Given the description of an element on the screen output the (x, y) to click on. 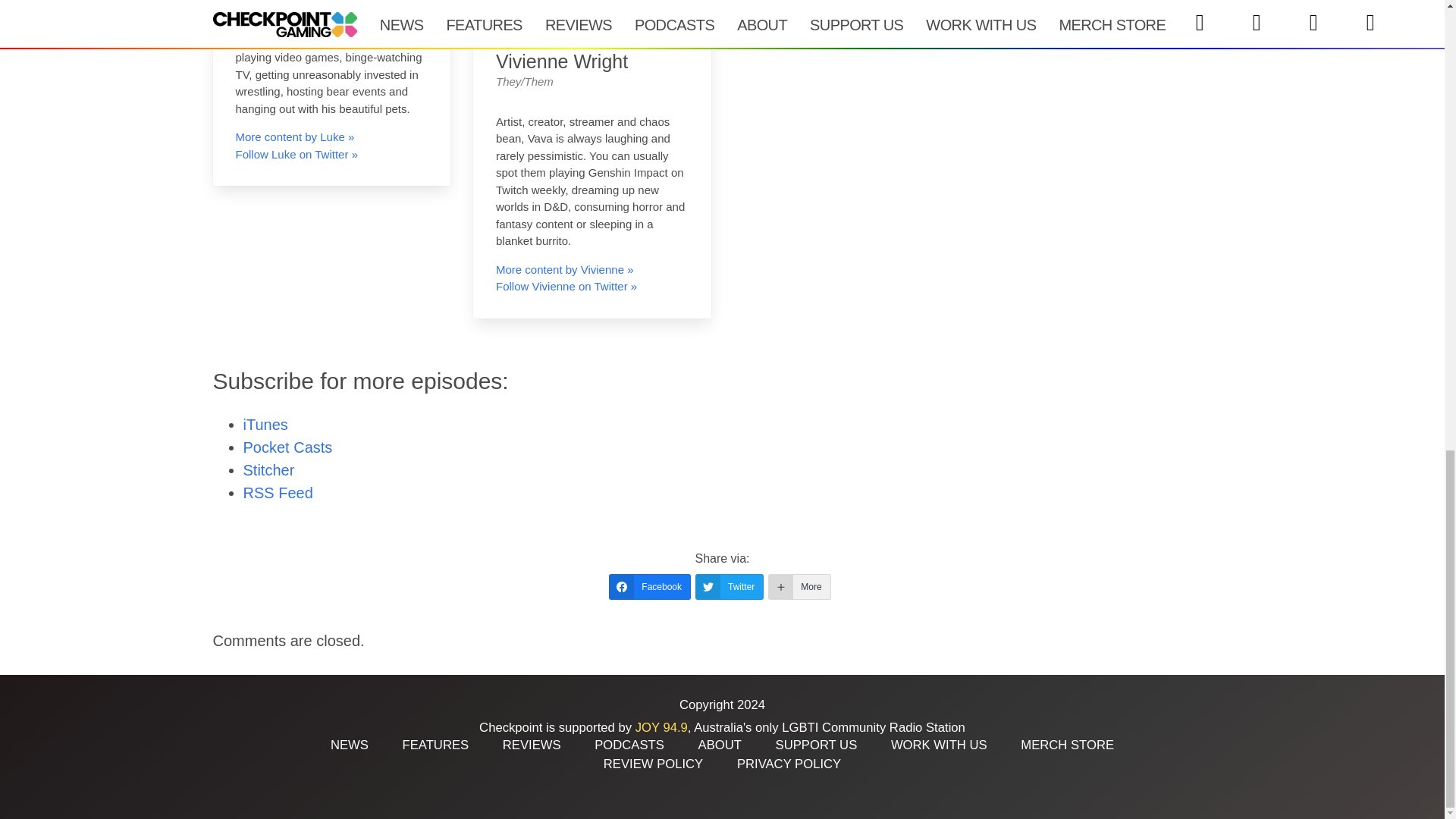
Pocket Casts (287, 446)
Stitcher (268, 469)
REVIEW POLICY (653, 763)
RSS Feed (278, 492)
MERCH STORE (1066, 744)
Twitter (728, 586)
ABOUT (719, 744)
FEATURES (435, 744)
PODCASTS (628, 744)
iTunes (264, 424)
